Given the description of an element on the screen output the (x, y) to click on. 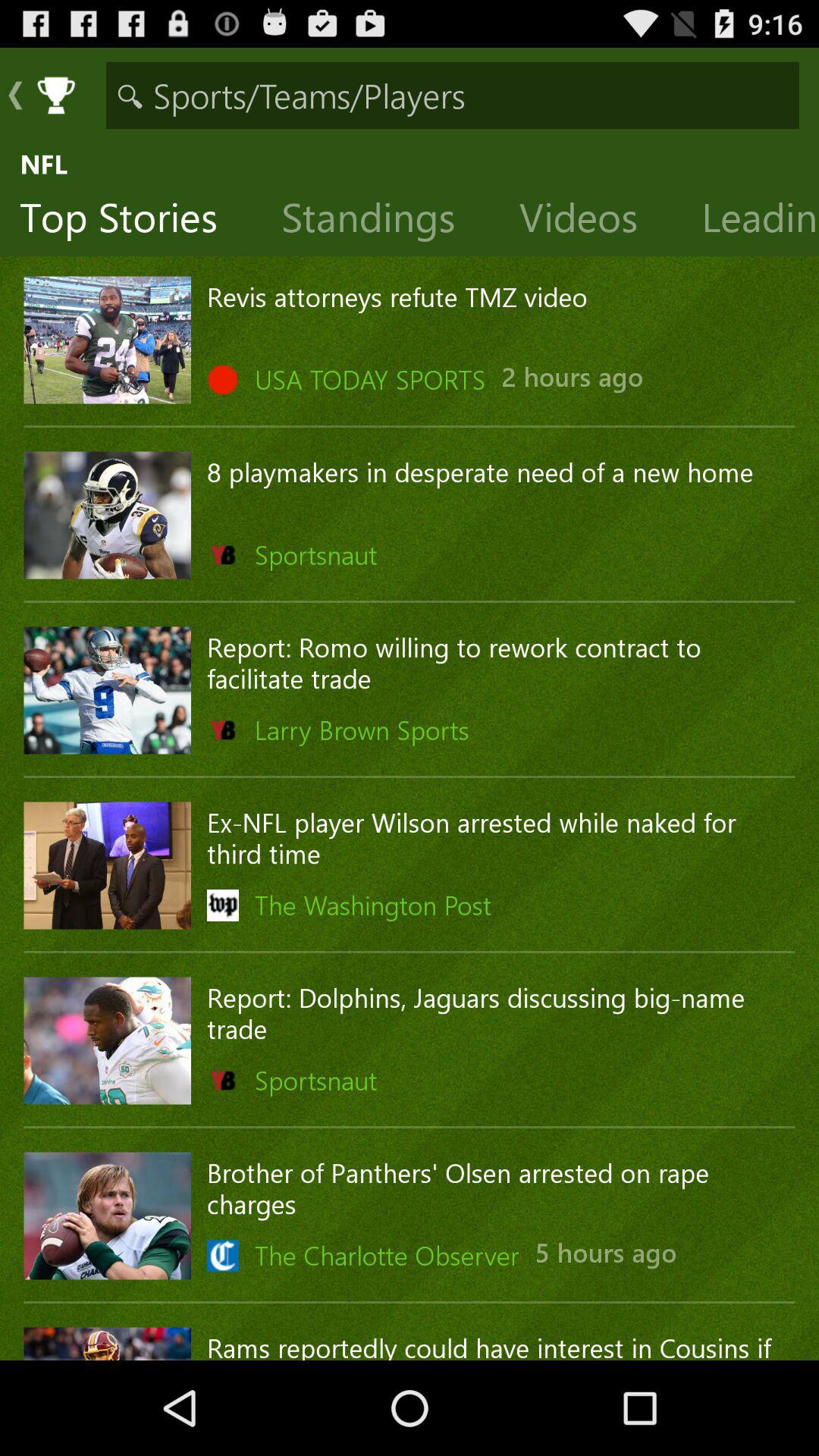
press the icon next to videos icon (750, 220)
